Given the description of an element on the screen output the (x, y) to click on. 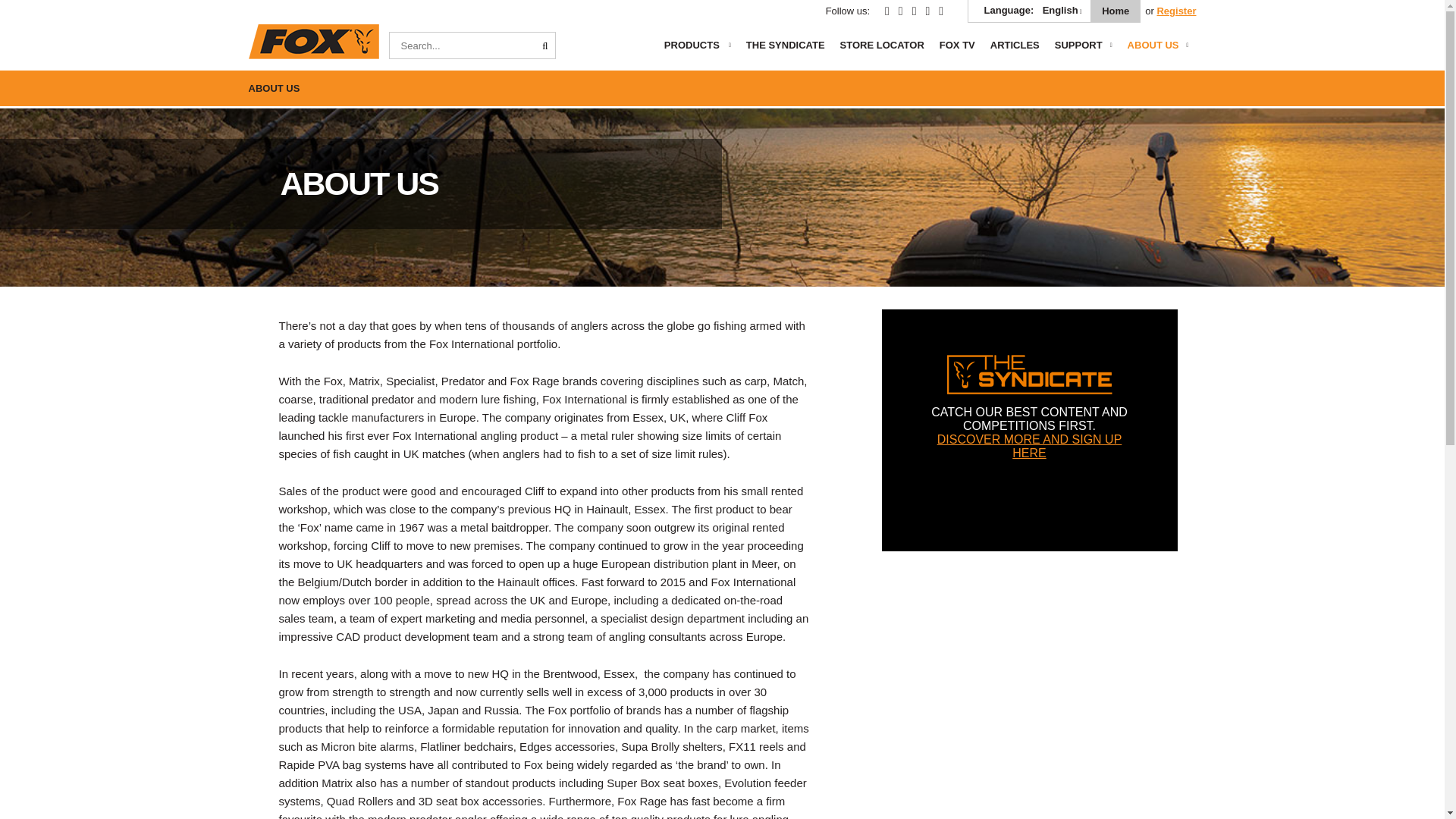
PRODUCTS (700, 50)
Home (1115, 11)
Register (1175, 10)
